Given the description of an element on the screen output the (x, y) to click on. 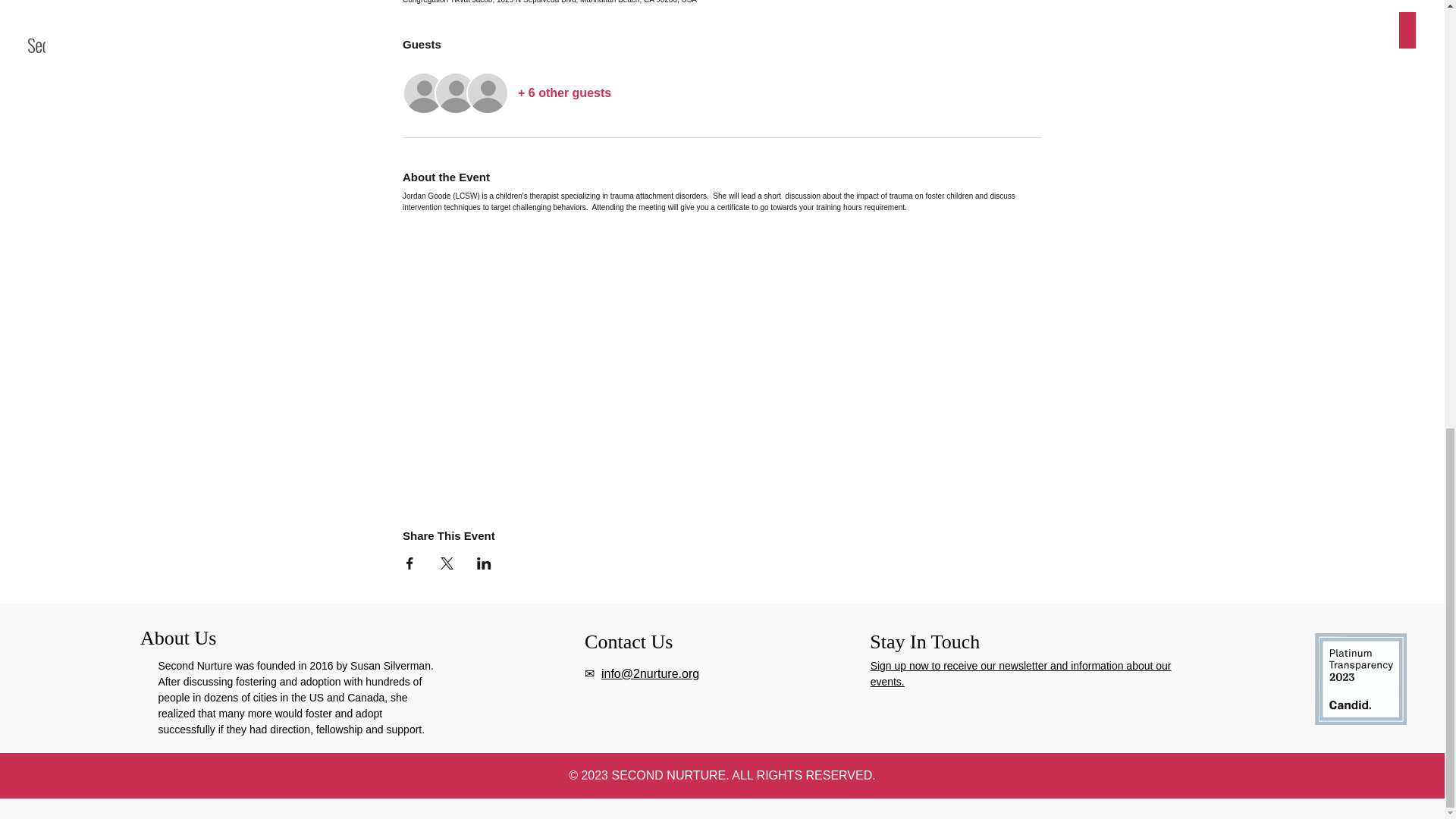
SECOND NURTURE (668, 775)
